Given the description of an element on the screen output the (x, y) to click on. 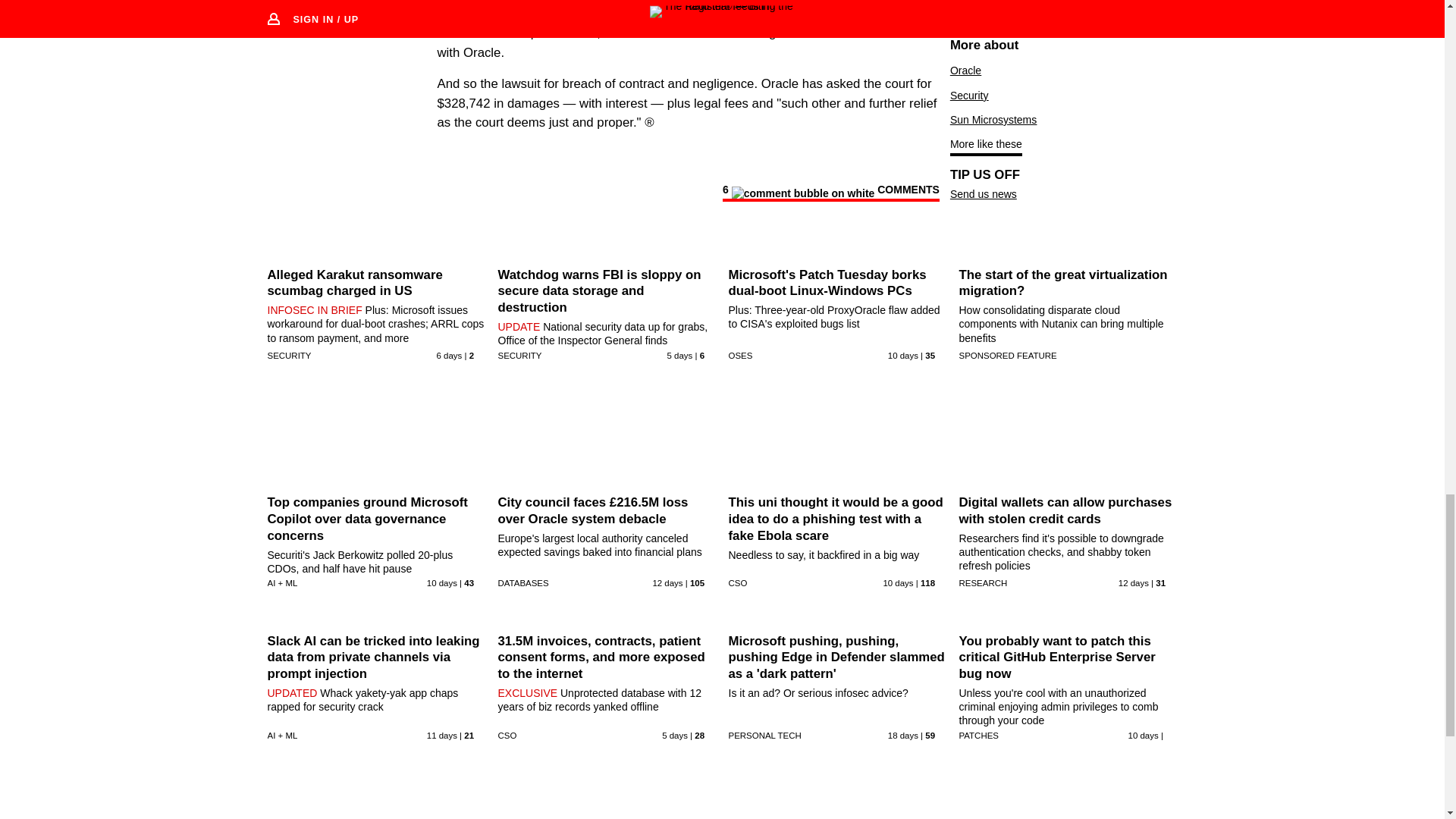
21 Aug 2024 21:40 (903, 355)
20 Aug 2024 8:30 (667, 583)
View comments on this article (830, 192)
26 Aug 2024 2:0 (449, 355)
21 Aug 2024 9:23 (441, 735)
21 Aug 2024 13:0 (441, 583)
22 Aug 2024 10:32 (897, 583)
26 Aug 2024 19:15 (679, 355)
20 Aug 2024 1:29 (1133, 583)
26 Aug 2024 13:0 (674, 735)
